Given the description of an element on the screen output the (x, y) to click on. 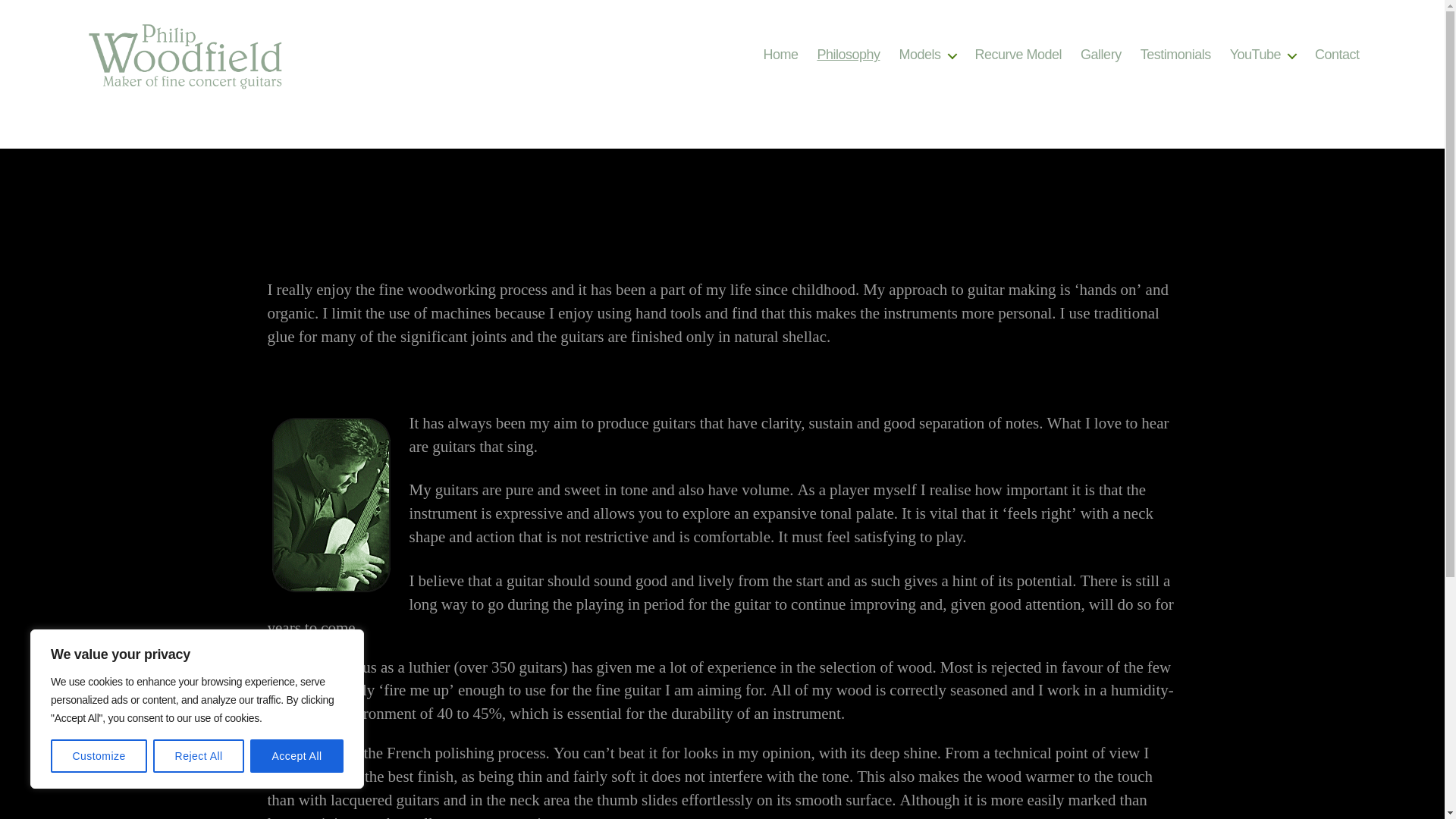
Reject All (198, 756)
Home (779, 54)
YouTube (1262, 54)
Contact (1336, 54)
Customize (98, 756)
Recurve Model (1018, 54)
Testimonials (1175, 54)
Gallery (1100, 54)
Accept All (296, 756)
Models (926, 54)
Philosophy (847, 54)
